Given the description of an element on the screen output the (x, y) to click on. 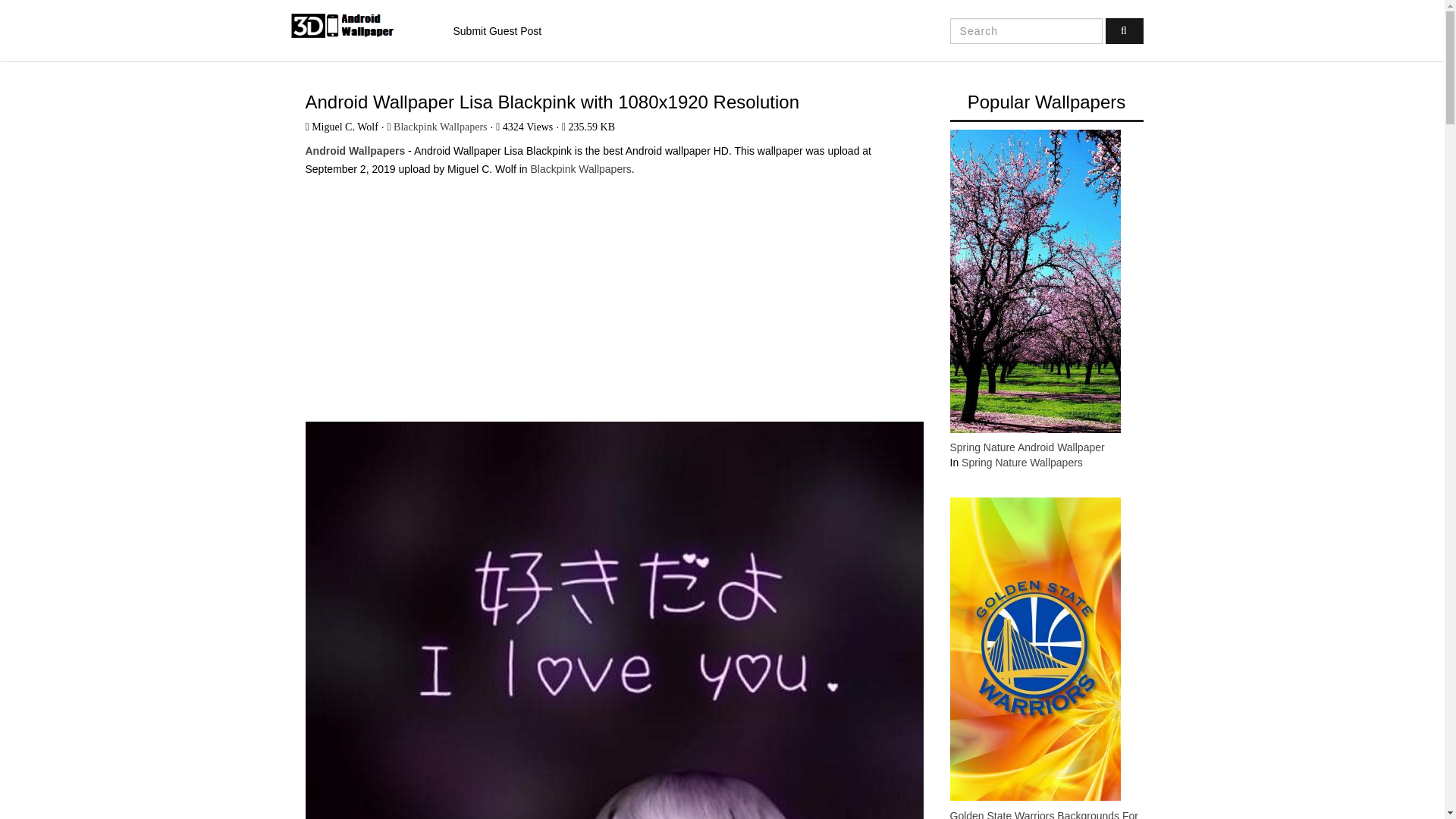
Advertisement (613, 292)
Submit Guest Post (497, 30)
Search for: (1026, 31)
Android Wallpapers (359, 25)
Android Wallpapers (354, 150)
Submit Guest Post (497, 30)
Blackpink Wallpapers (581, 168)
Blackpink Wallpapers (439, 126)
